Given the description of an element on the screen output the (x, y) to click on. 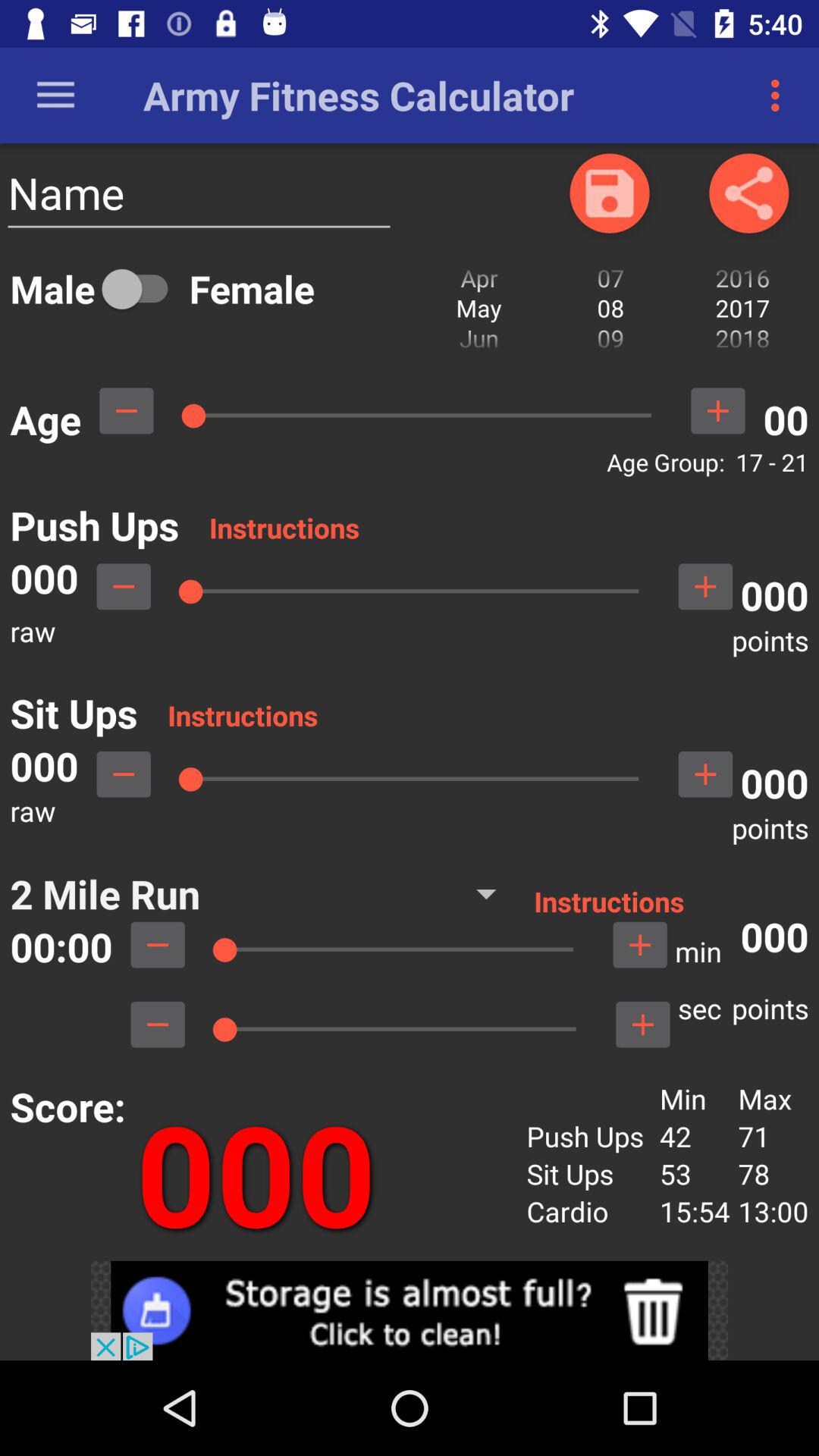
share the information (748, 193)
